Given the description of an element on the screen output the (x, y) to click on. 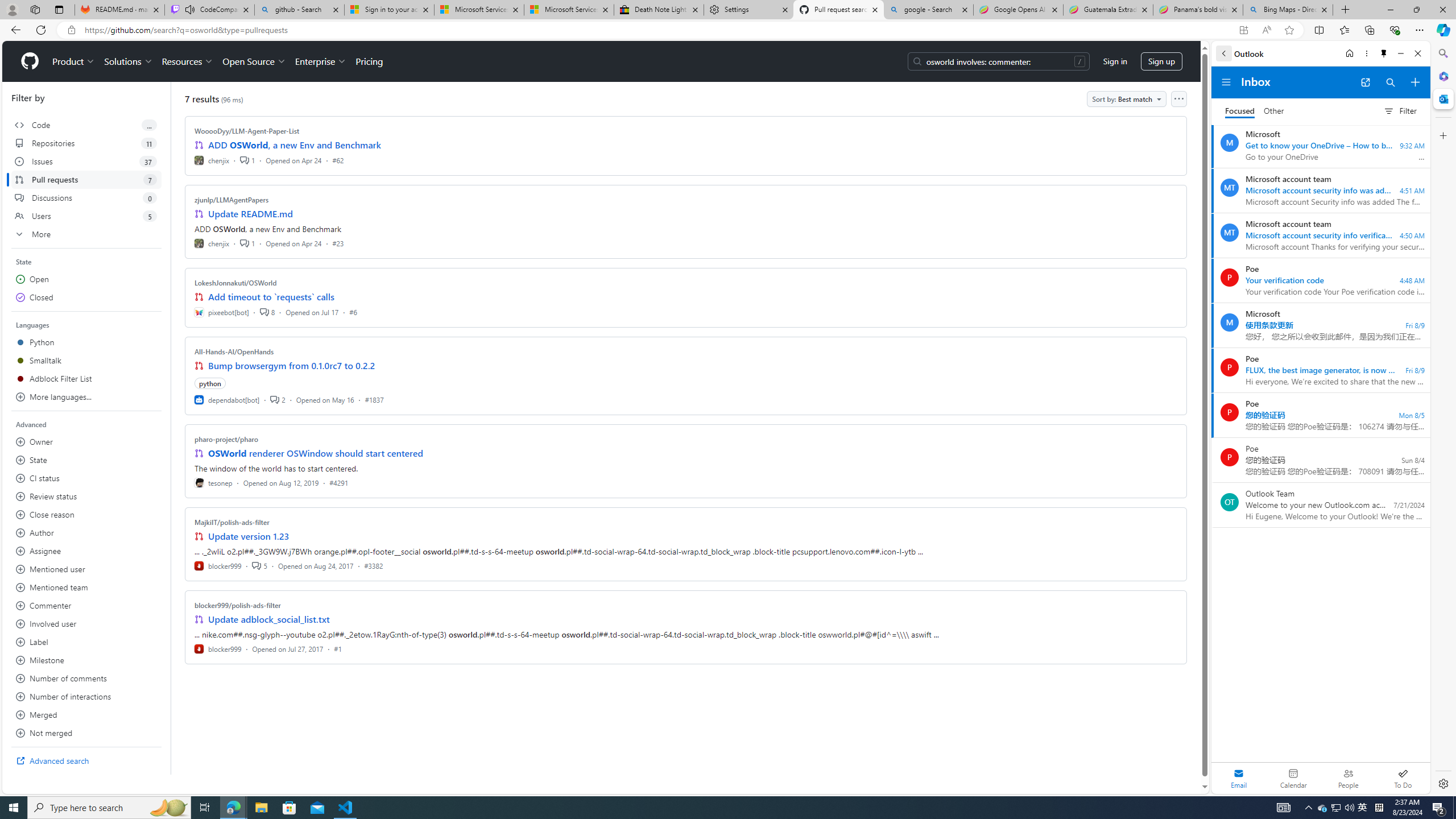
Update README.md (250, 213)
Bump browsergym from 0.1.0rc7 to 0.2.2 (291, 365)
chenjix (211, 242)
Update version 1.23 (248, 535)
More languages... (86, 397)
github - Search (298, 9)
Draggable pane splitter (169, 427)
tesonep (213, 482)
Resources (187, 60)
